Given the description of an element on the screen output the (x, y) to click on. 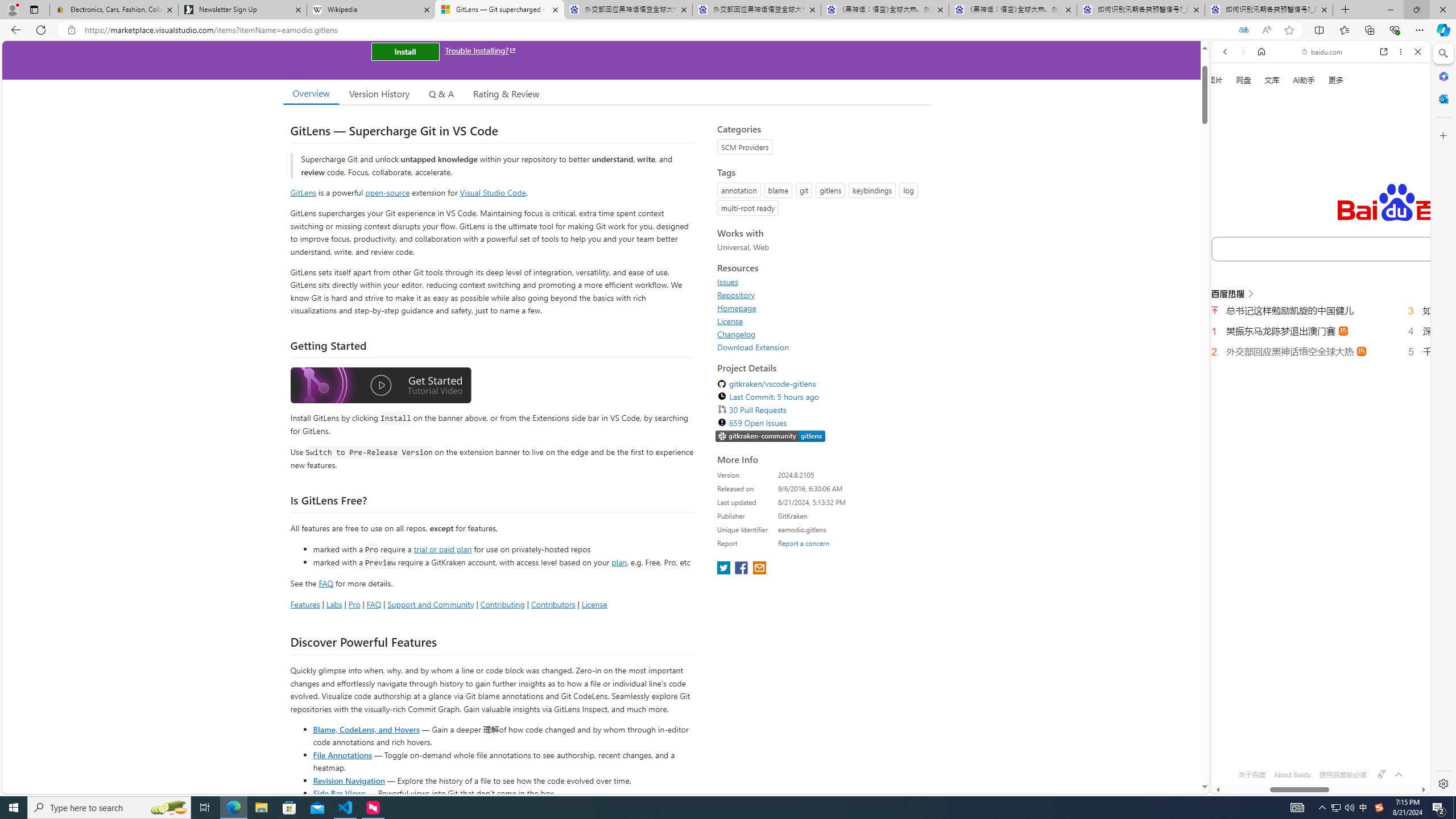
Download Extension (820, 346)
